Given the description of an element on the screen output the (x, y) to click on. 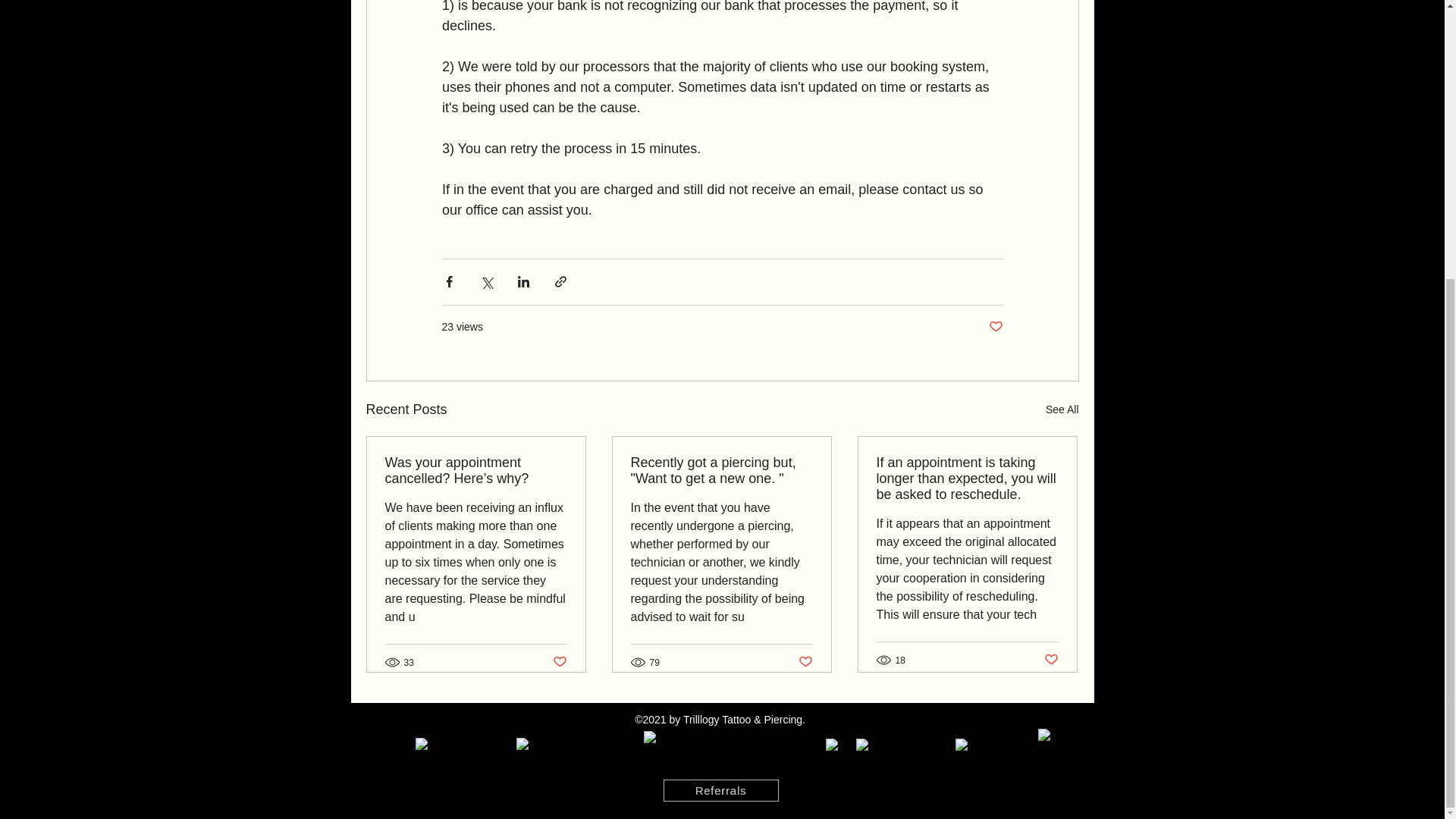
Post not marked as liked (804, 662)
Post not marked as liked (1050, 659)
Post not marked as liked (558, 662)
See All (1061, 409)
Referrals (719, 790)
Recently got a piercing but, "Want to get a new one. " (721, 470)
Post not marked as liked (995, 326)
